Given the description of an element on the screen output the (x, y) to click on. 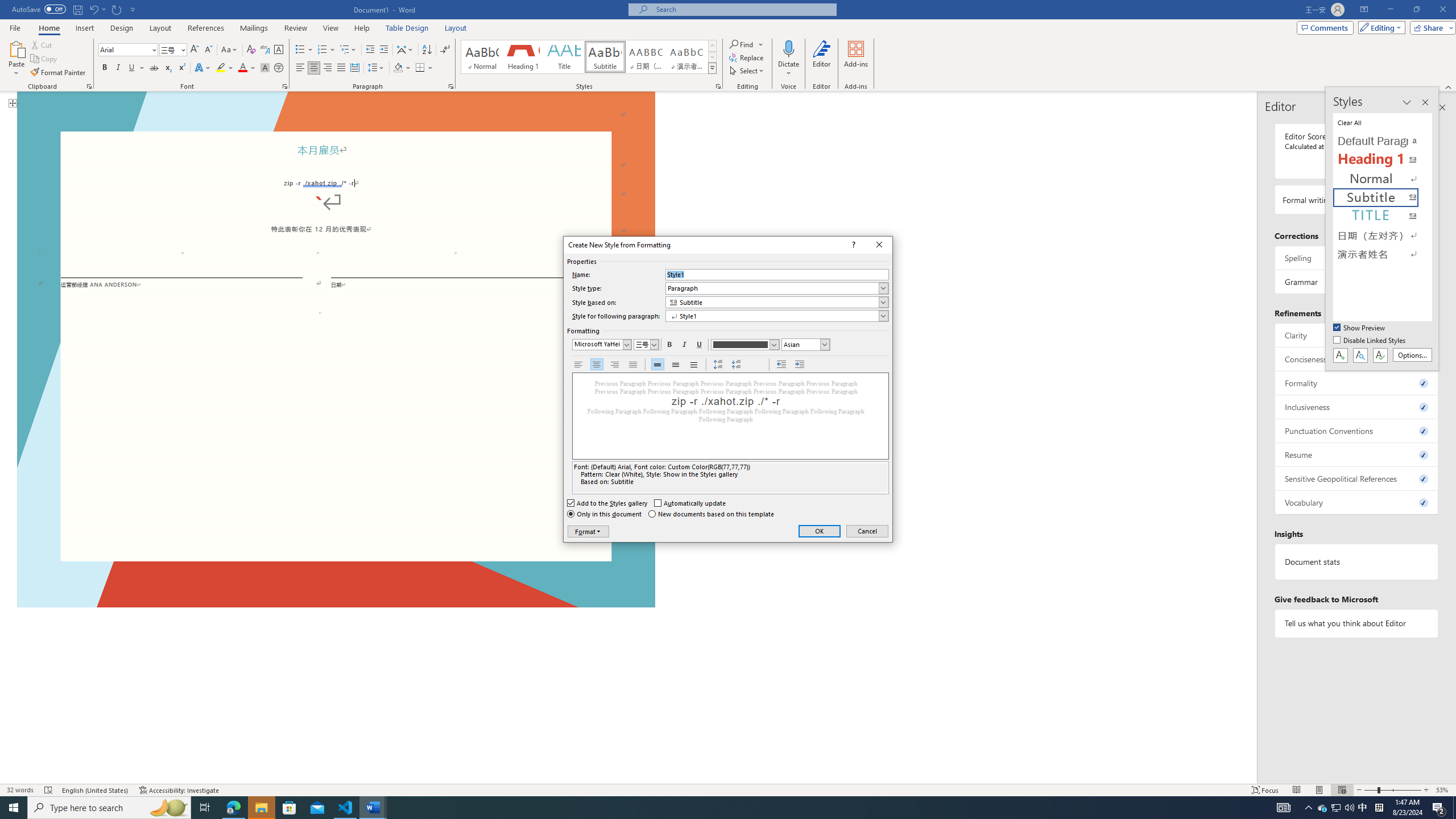
AutomationID: 4105 (1283, 807)
Show desktop (1454, 807)
Spelling and Grammar Check Errors (48, 790)
